Given the description of an element on the screen output the (x, y) to click on. 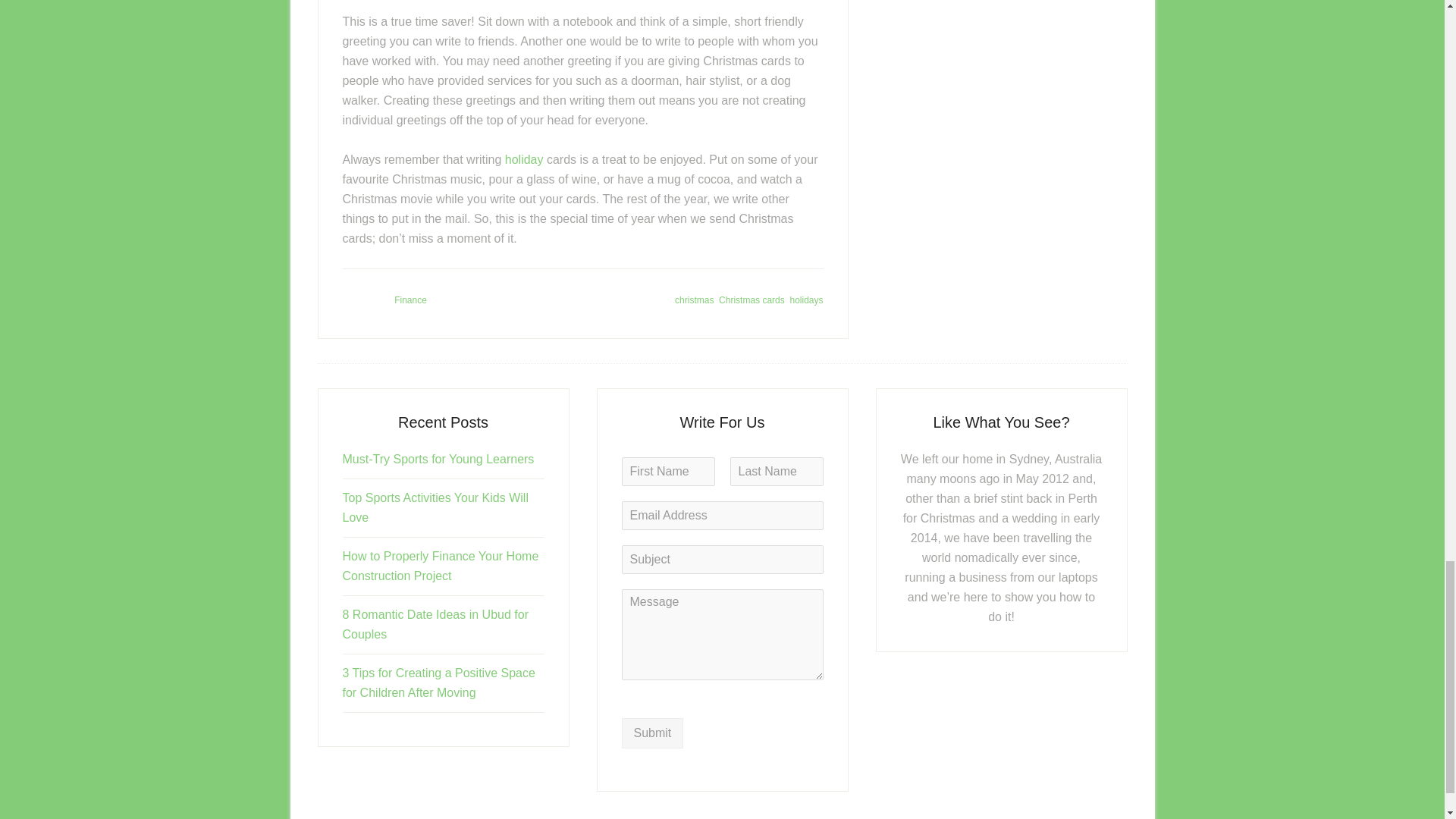
christmas (694, 299)
Top Sports Activities Your Kids Will Love (435, 507)
8 Romantic Date Ideas in Ubud for Couples (435, 624)
holidays (805, 299)
Christmas cards (751, 299)
Finance (410, 299)
holiday (524, 159)
Must-Try Sports for Young Learners (438, 459)
Submit (652, 733)
